Given the description of an element on the screen output the (x, y) to click on. 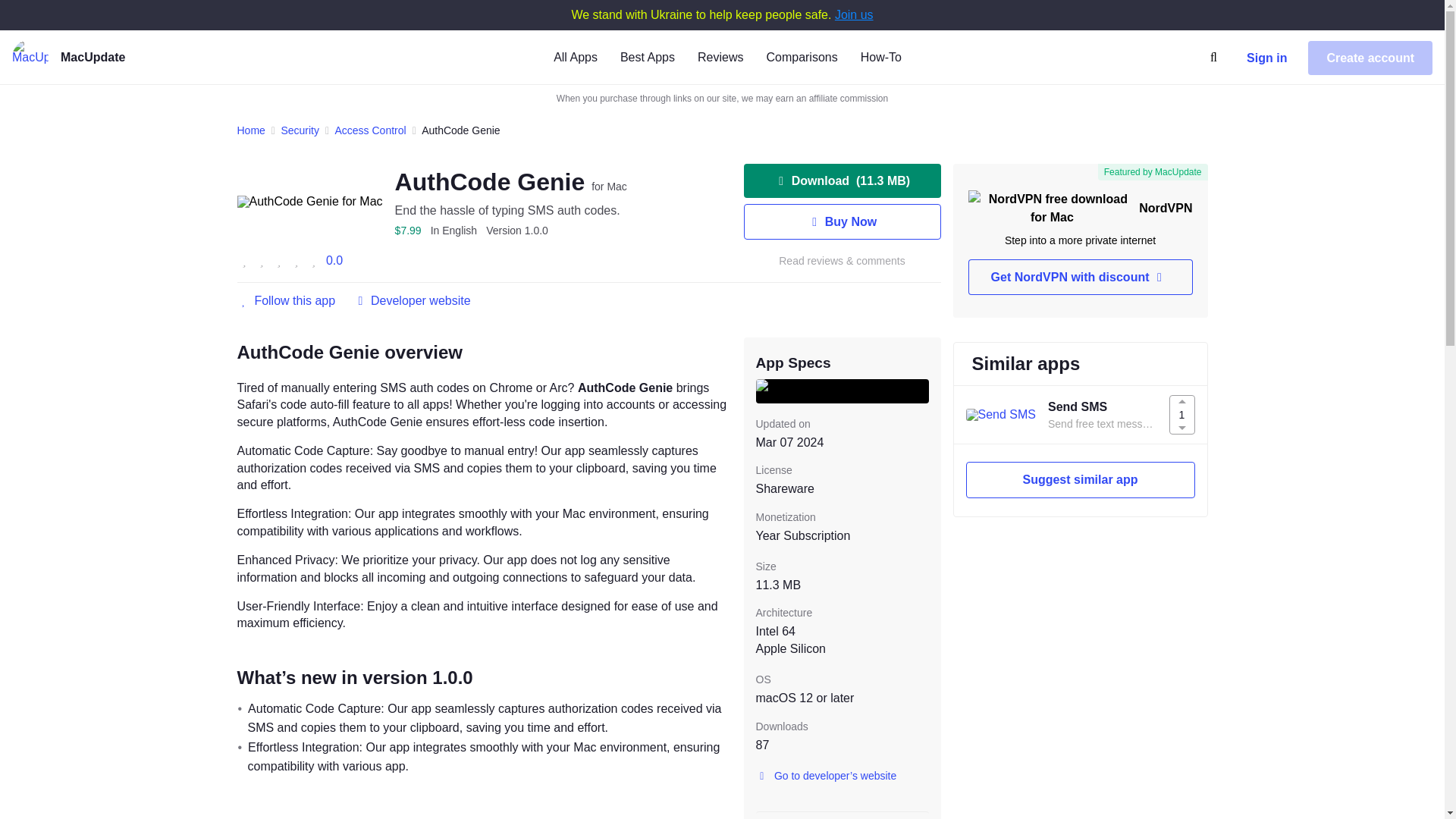
1.0.0 (517, 230)
MacUpdate (116, 57)
Join us (853, 14)
All Apps (574, 56)
